Given the description of an element on the screen output the (x, y) to click on. 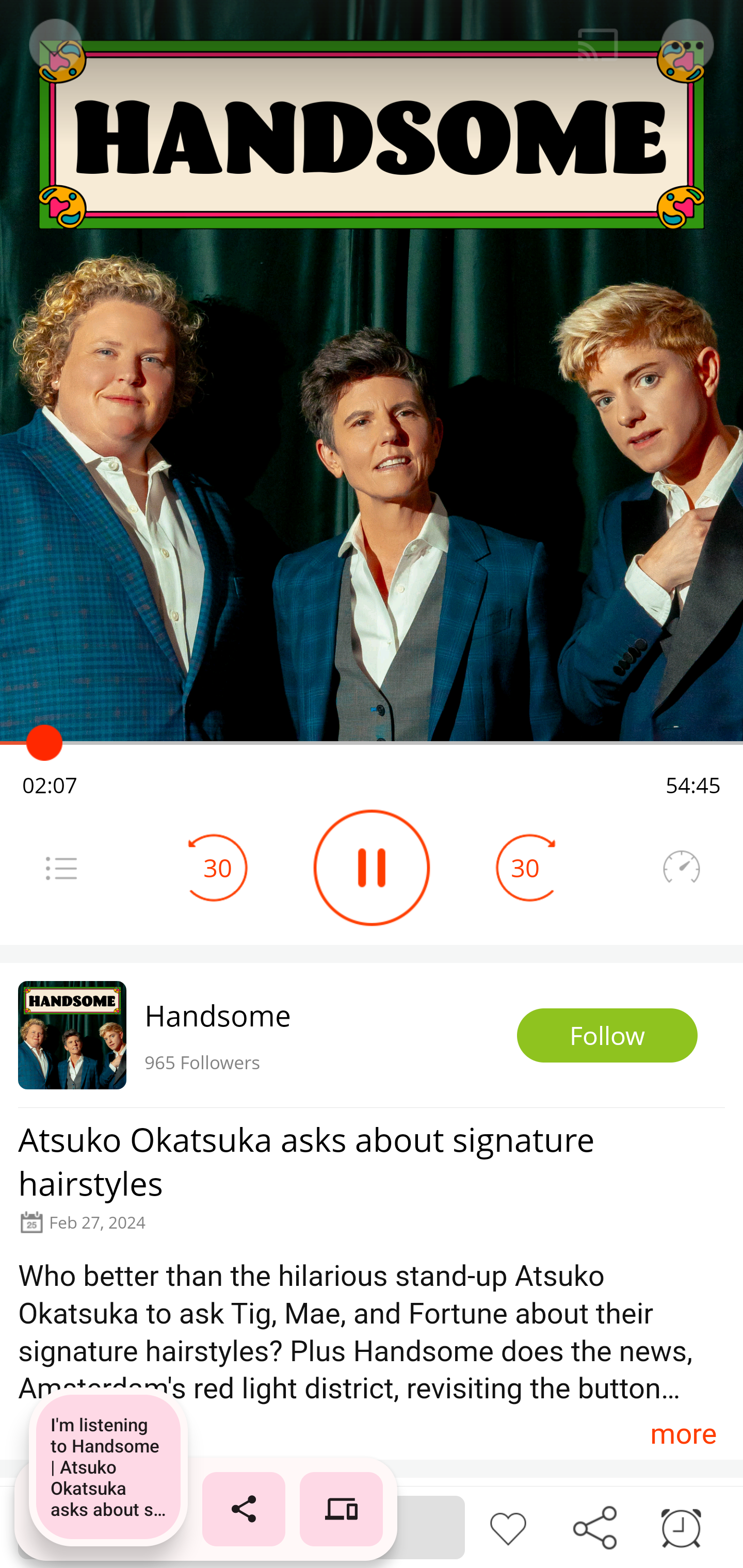
Back (53, 45)
Cast. Disconnected (597, 45)
Menu (688, 45)
Play (371, 867)
30 Seek Backward (217, 867)
30 Seek Forward (525, 867)
Menu (60, 867)
Speedometer (681, 867)
Handsome 965 Followers Follow (371, 1034)
Follow (607, 1035)
more (682, 1432)
Like (508, 1526)
Share (594, 1526)
Sleep timer (681, 1526)
